Given the description of an element on the screen output the (x, y) to click on. 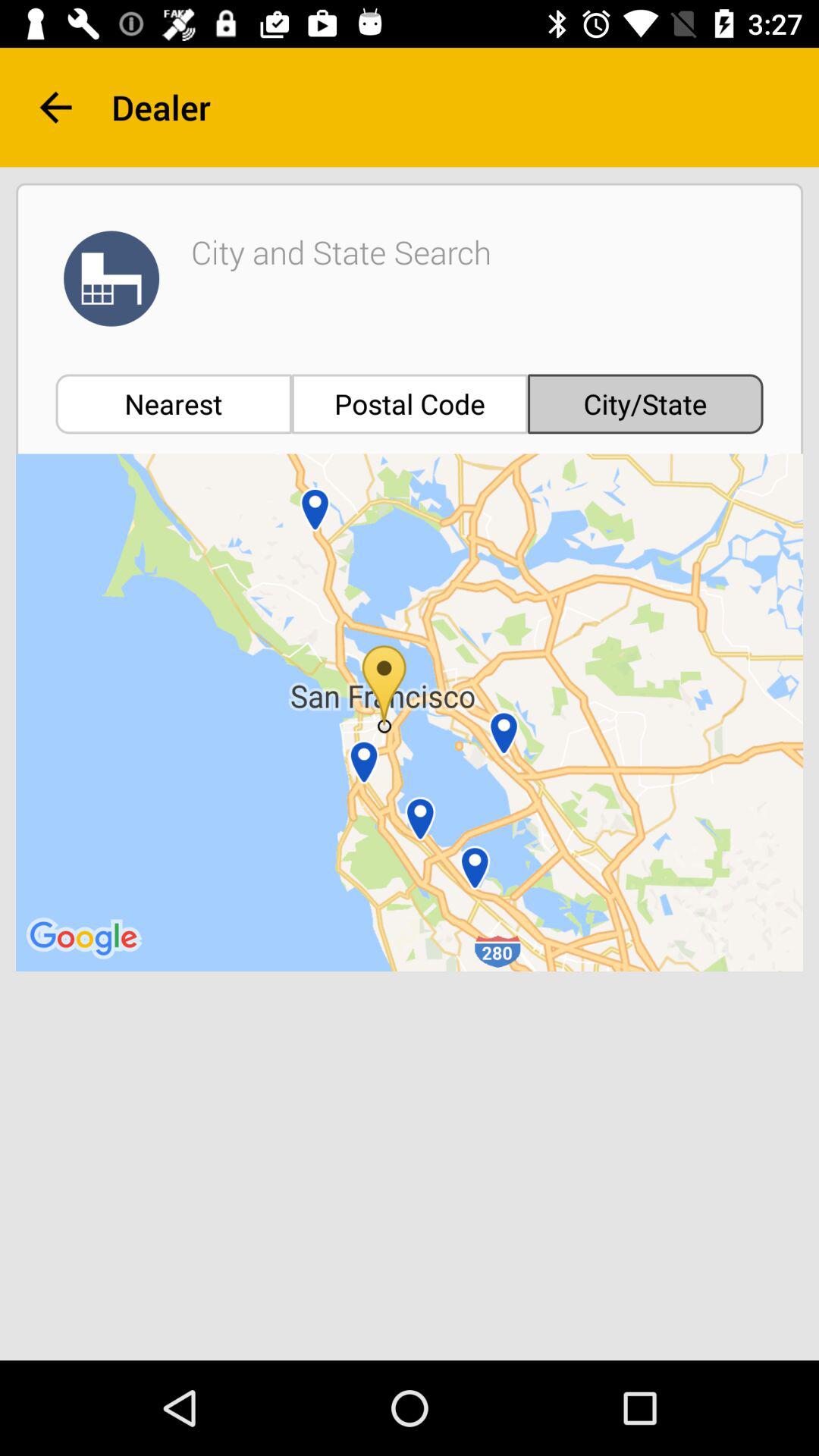
turn off item to the left of the dealer (55, 107)
